Given the description of an element on the screen output the (x, y) to click on. 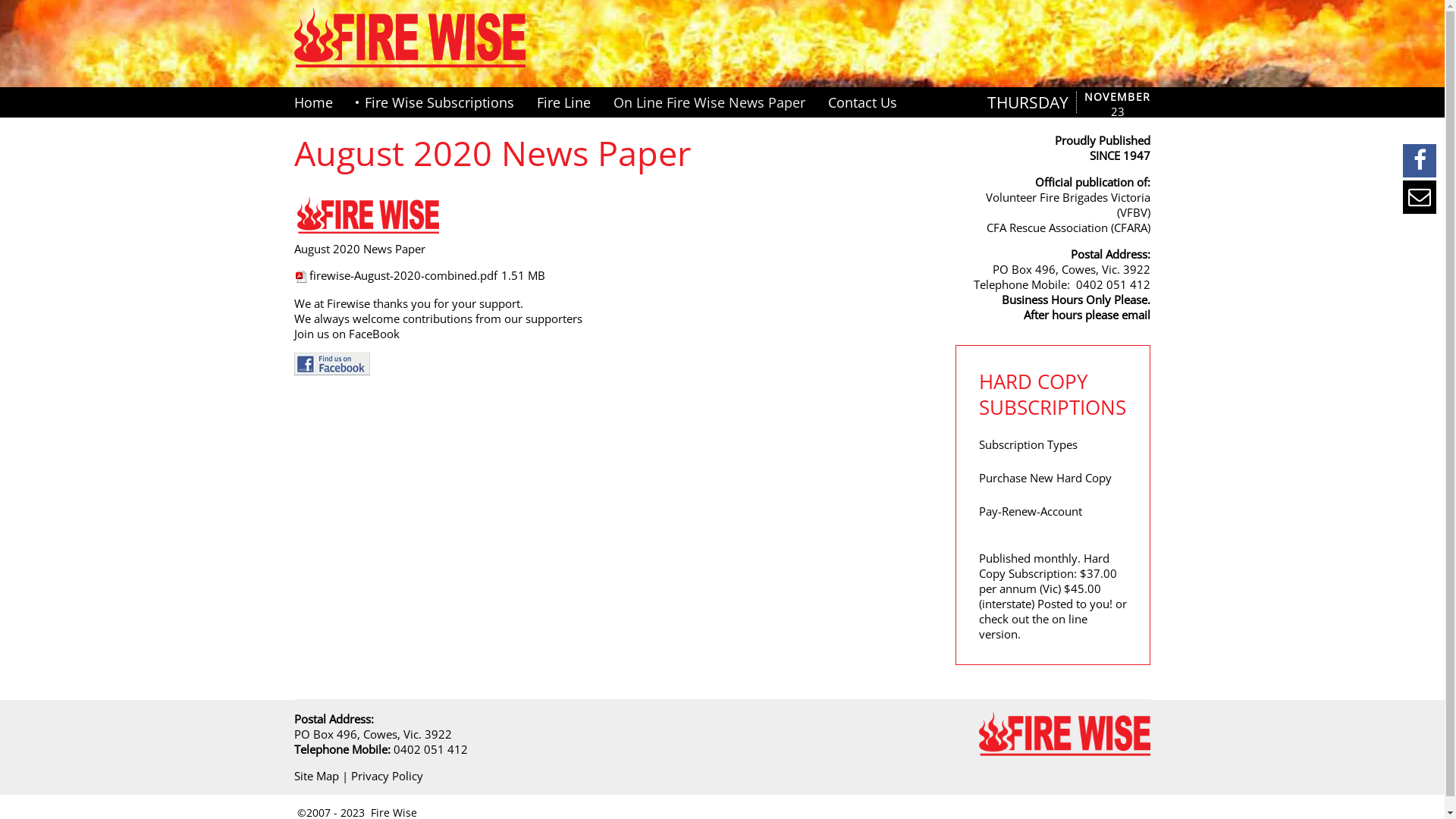
Purchase New Hard Copy Element type: text (1045, 477)
Contact Us Element type: text (861, 102)
Site Map Element type: text (316, 775)
On Line Fire Wise News Paper Element type: text (709, 102)
Pay-Renew-Account Element type: text (1030, 510)
Subscription Types Element type: text (1028, 443)
Fire Line Element type: text (562, 102)
Home Element type: text (319, 102)
firewise-August-2020-combined.pdf1.51 MB Element type: text (419, 274)
Fire Wise Subscriptions Element type: text (434, 102)
After hours please email Element type: text (1086, 314)
Privacy Policy Element type: text (386, 775)
